Given the description of an element on the screen output the (x, y) to click on. 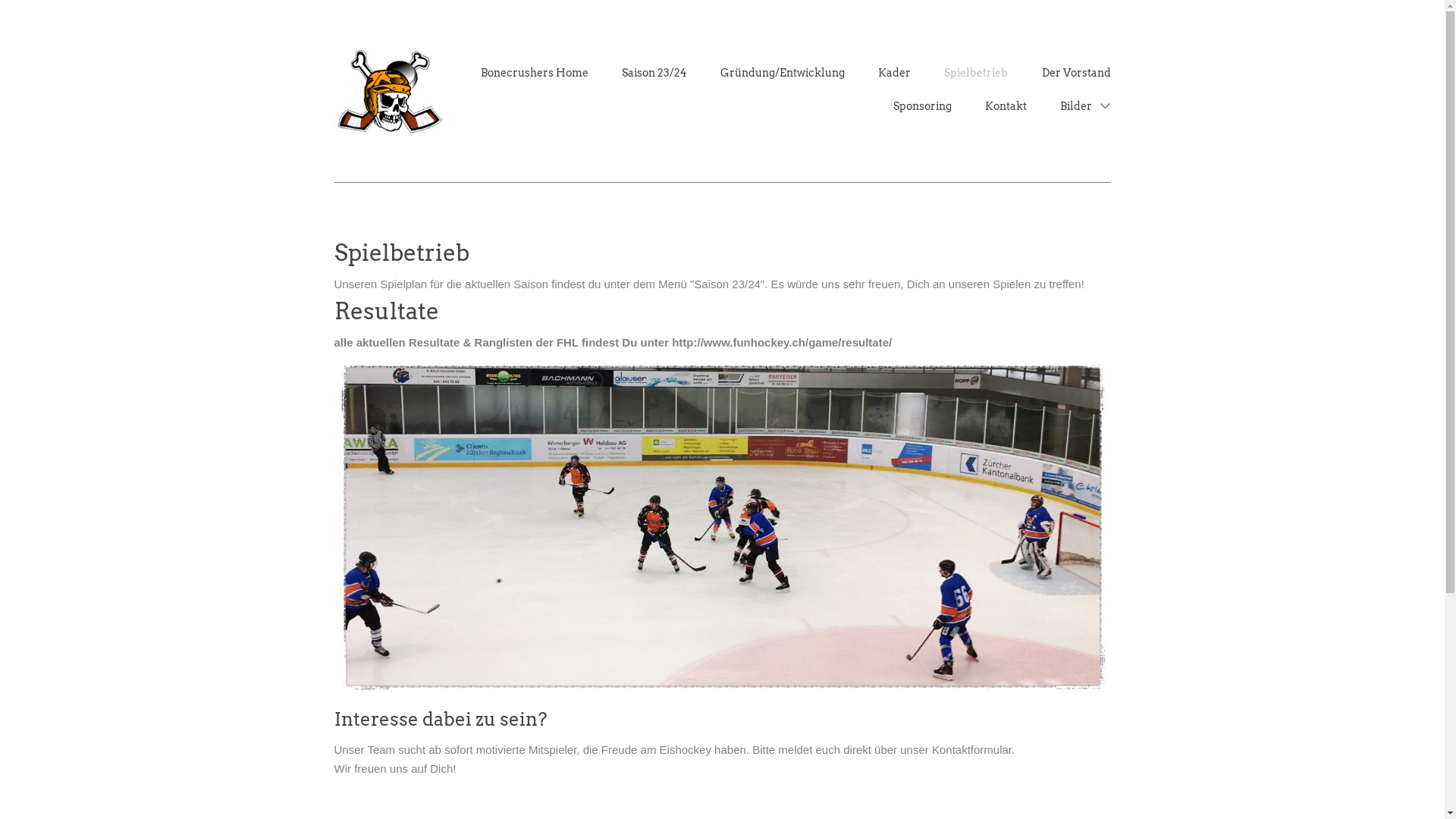
Bonecrushers Home Element type: text (534, 72)
Kontaktformular Element type: text (971, 749)
Kontakt Element type: text (1005, 105)
Saison 23/24 Element type: text (726, 283)
http://www.funhockey.ch/game/resultate/ Element type: text (781, 341)
Der Vorstand Element type: text (1075, 72)
Spielbetrieb Element type: text (975, 72)
Saison 23/24 Element type: text (654, 72)
Kader Element type: text (894, 72)
Sponsoring Element type: text (922, 105)
